Given the description of an element on the screen output the (x, y) to click on. 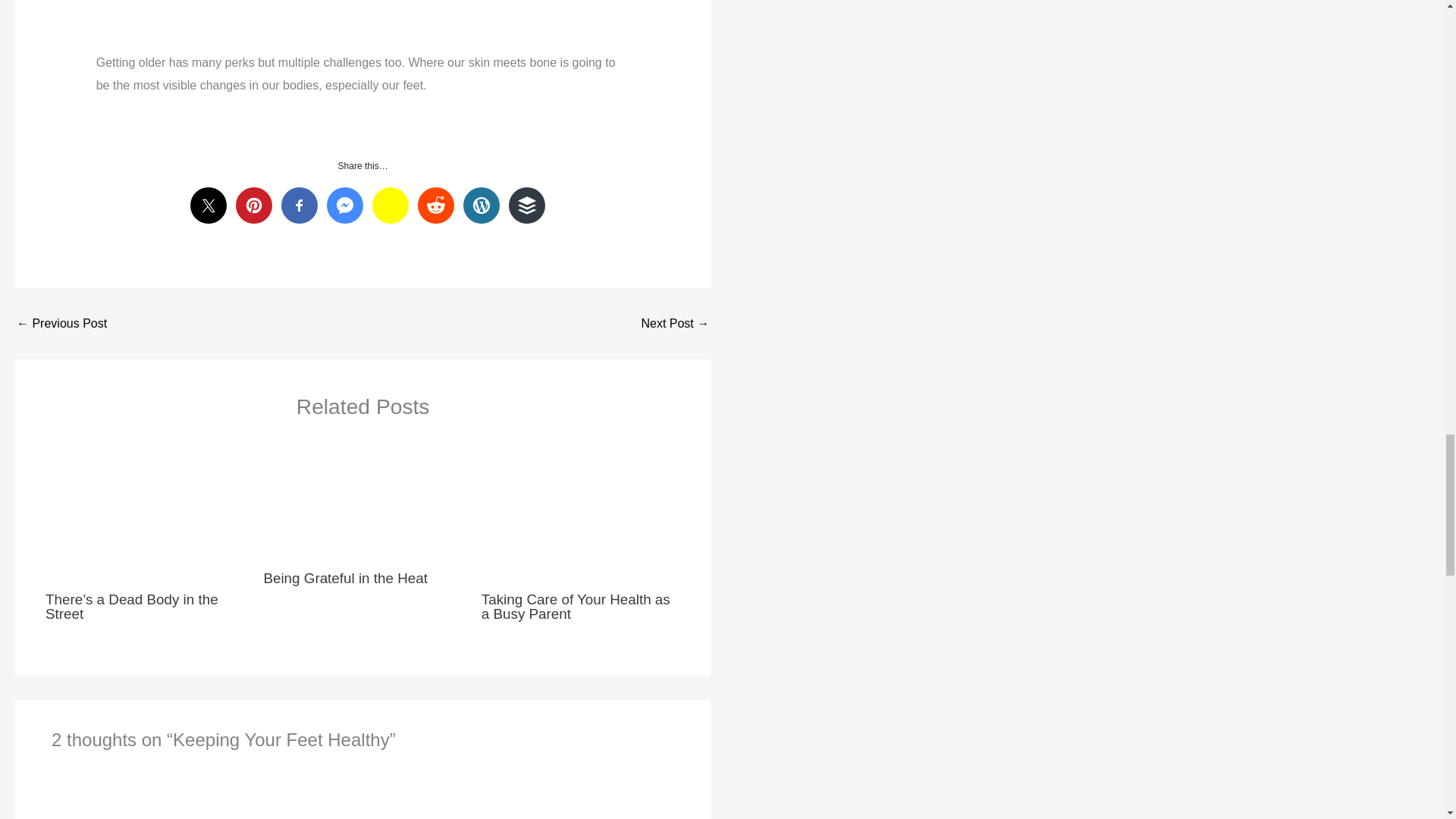
Tips to Keep Your Bathroom Clean and Mildew Free (61, 323)
You've Made a Mistake. Now What? (674, 323)
